Given the description of an element on the screen output the (x, y) to click on. 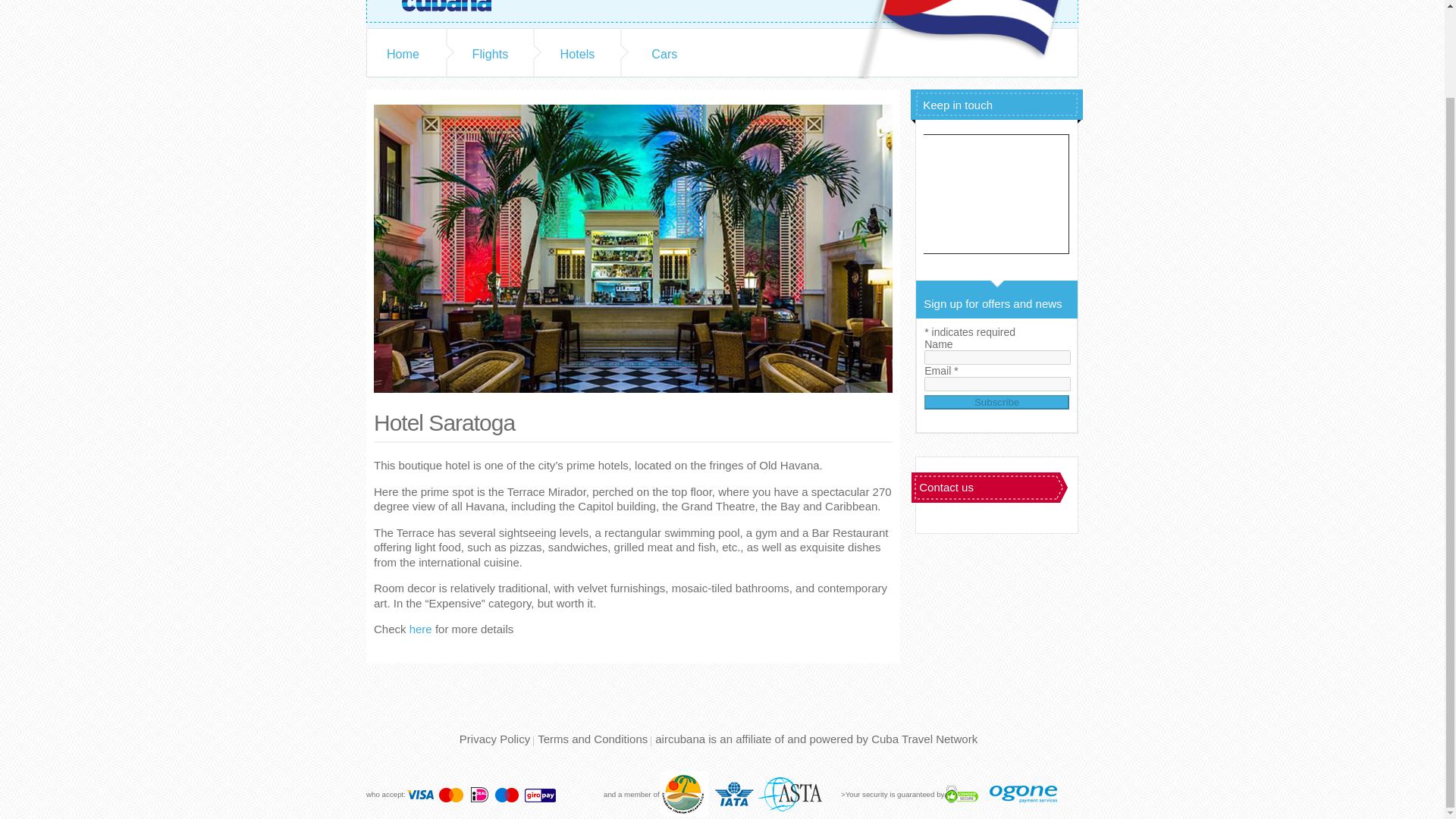
Subscribe (996, 401)
Flights (489, 53)
Terms and Conditions (592, 738)
Subscribe (996, 401)
Hotels (576, 53)
Cars (664, 53)
here (420, 628)
Home (402, 53)
Privacy Policy (494, 738)
Hotel Cubana (457, 6)
